Given the description of an element on the screen output the (x, y) to click on. 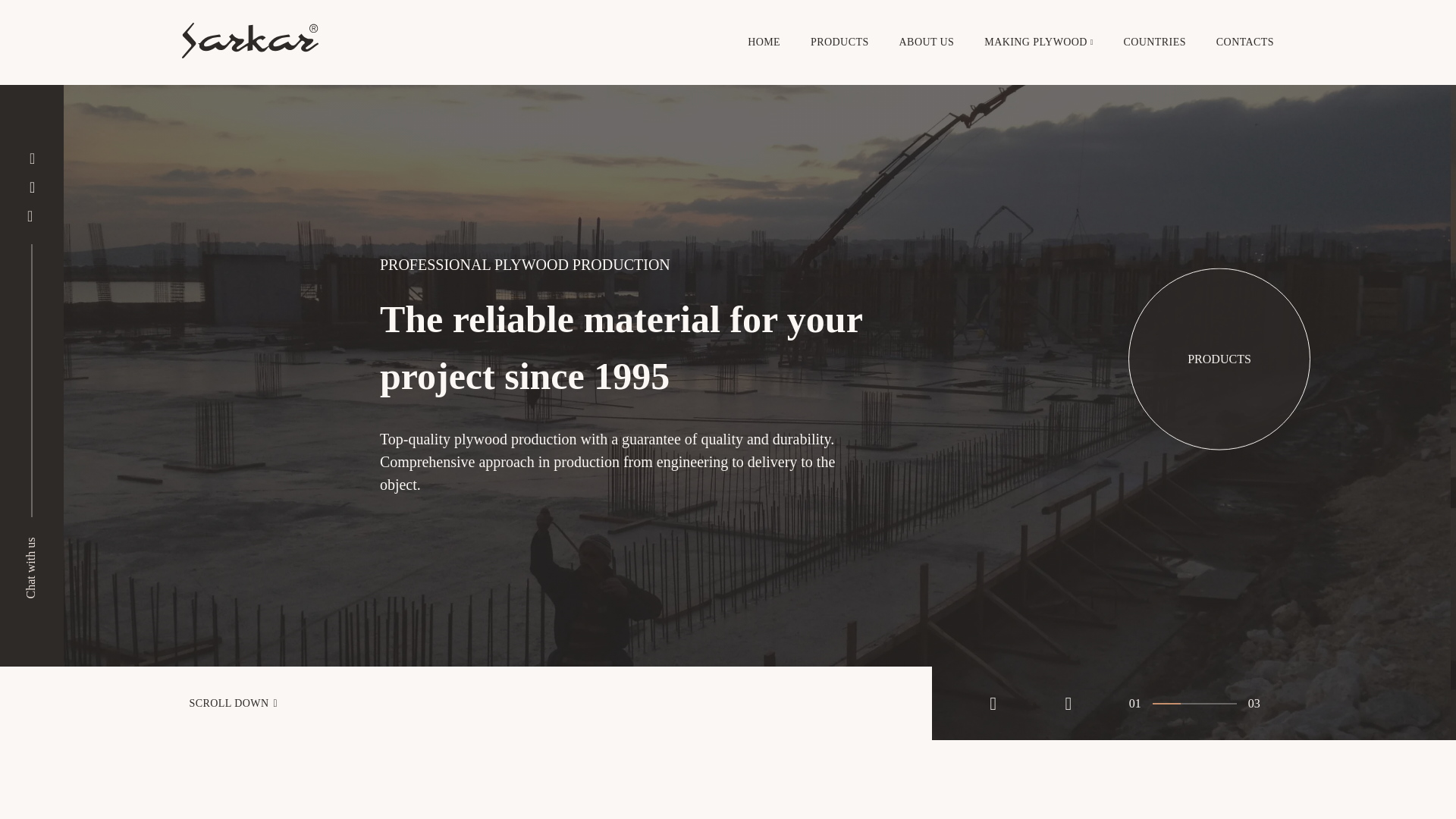
PRODUCTS (1219, 361)
COUNTRIES (1155, 41)
SCROLL DOWN (465, 703)
CONTACTS (1244, 41)
PRODUCTS (839, 41)
HOME (764, 41)
MAKING PLYWOOD (1035, 41)
ABOUT US (927, 41)
